Given the description of an element on the screen output the (x, y) to click on. 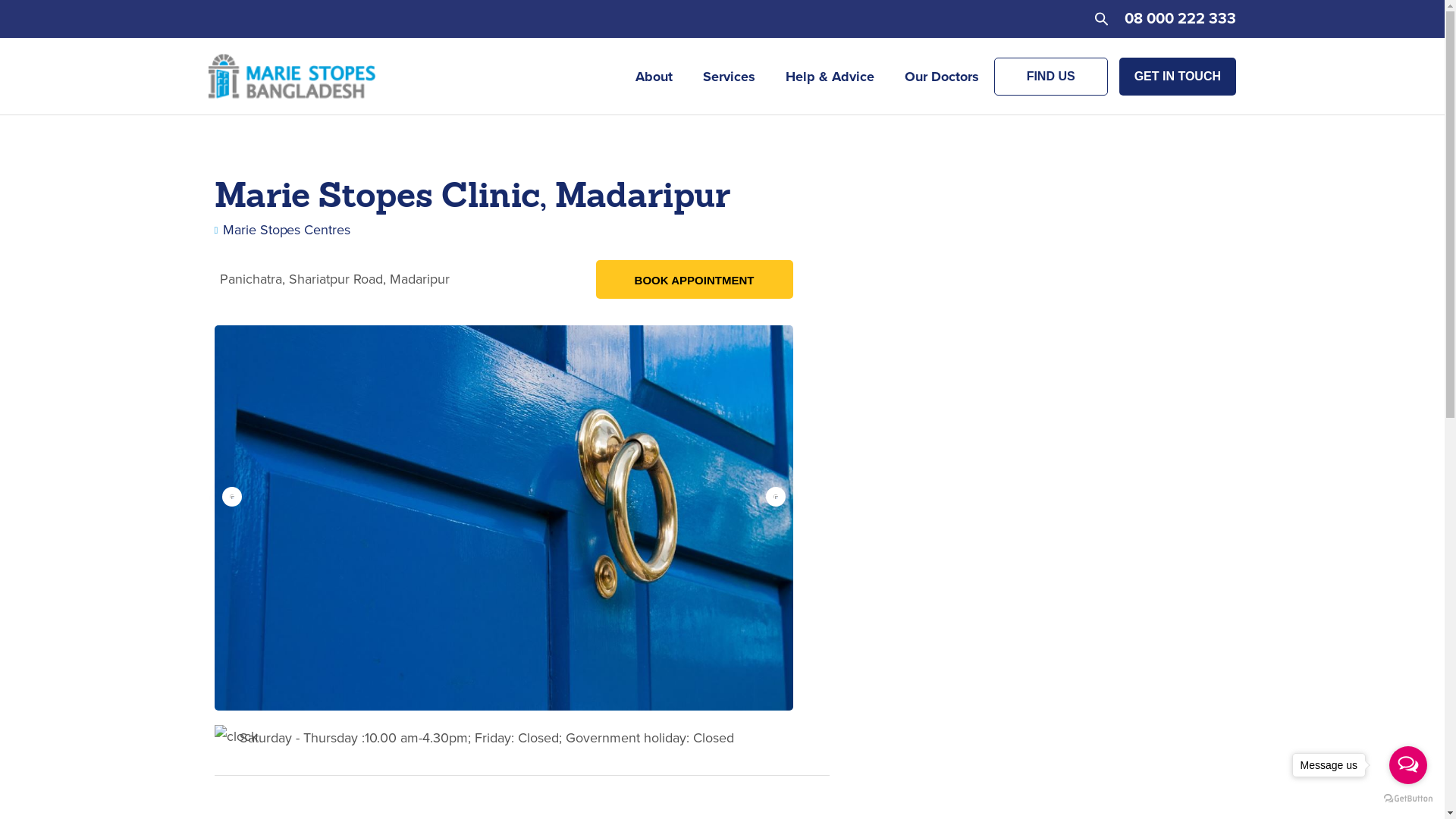
Our Doctors Element type: text (941, 76)
08 000 222 333 Element type: text (1180, 18)
Services Element type: text (728, 76)
Help & Advice Element type: text (829, 76)
GET IN TOUCH Element type: text (1177, 76)
About Element type: text (653, 76)
BOOK APPOINTMENT Element type: text (694, 279)
FIND US Element type: text (1050, 76)
BOOK APPOINTMENT Element type: text (694, 279)
